Given the description of an element on the screen output the (x, y) to click on. 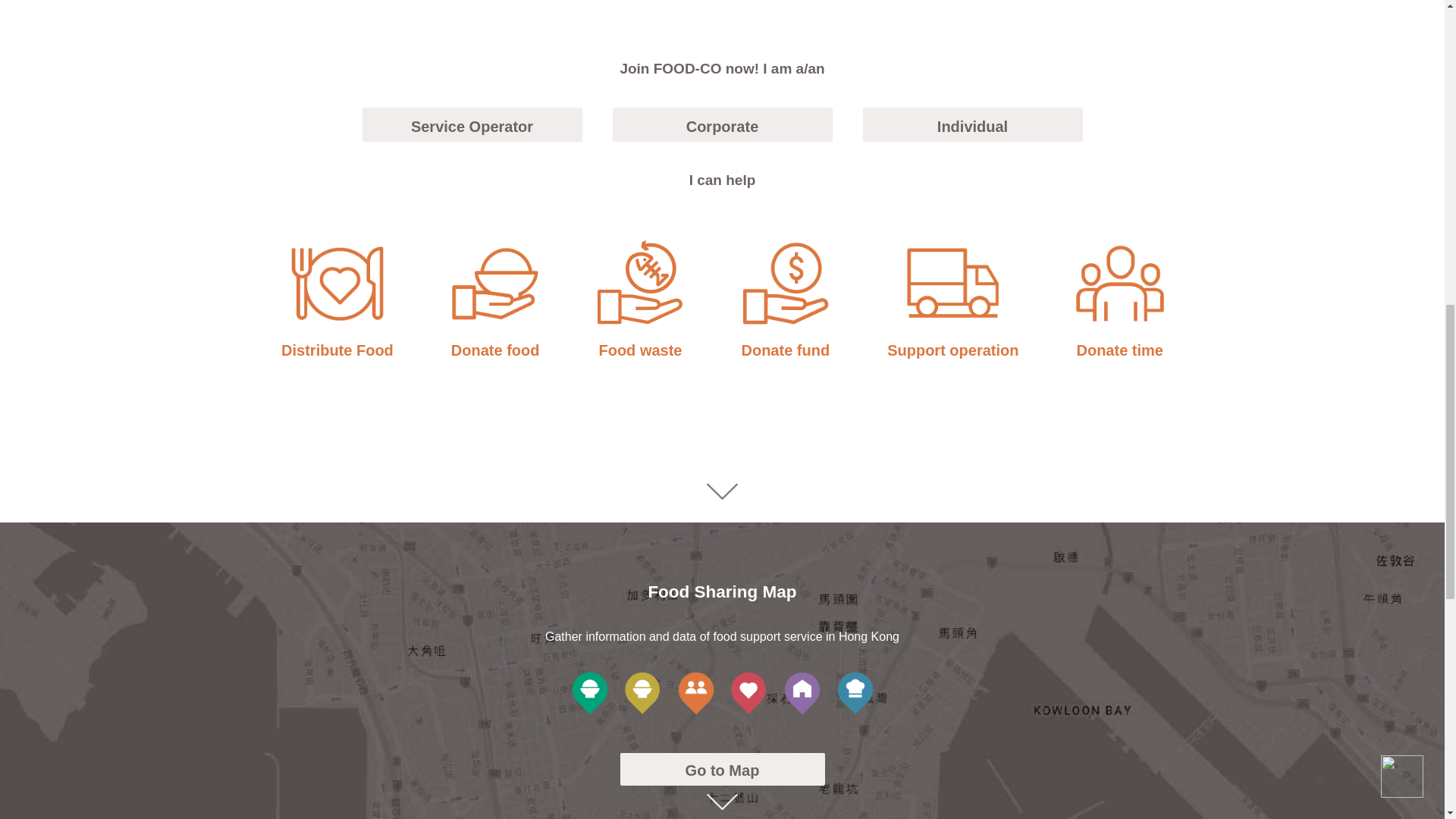
Corporate (722, 124)
Individual (973, 124)
Go to Map (722, 768)
Support operation (952, 300)
Service Operator (472, 124)
Go to Map (722, 768)
Distribute Food (336, 300)
